Given the description of an element on the screen output the (x, y) to click on. 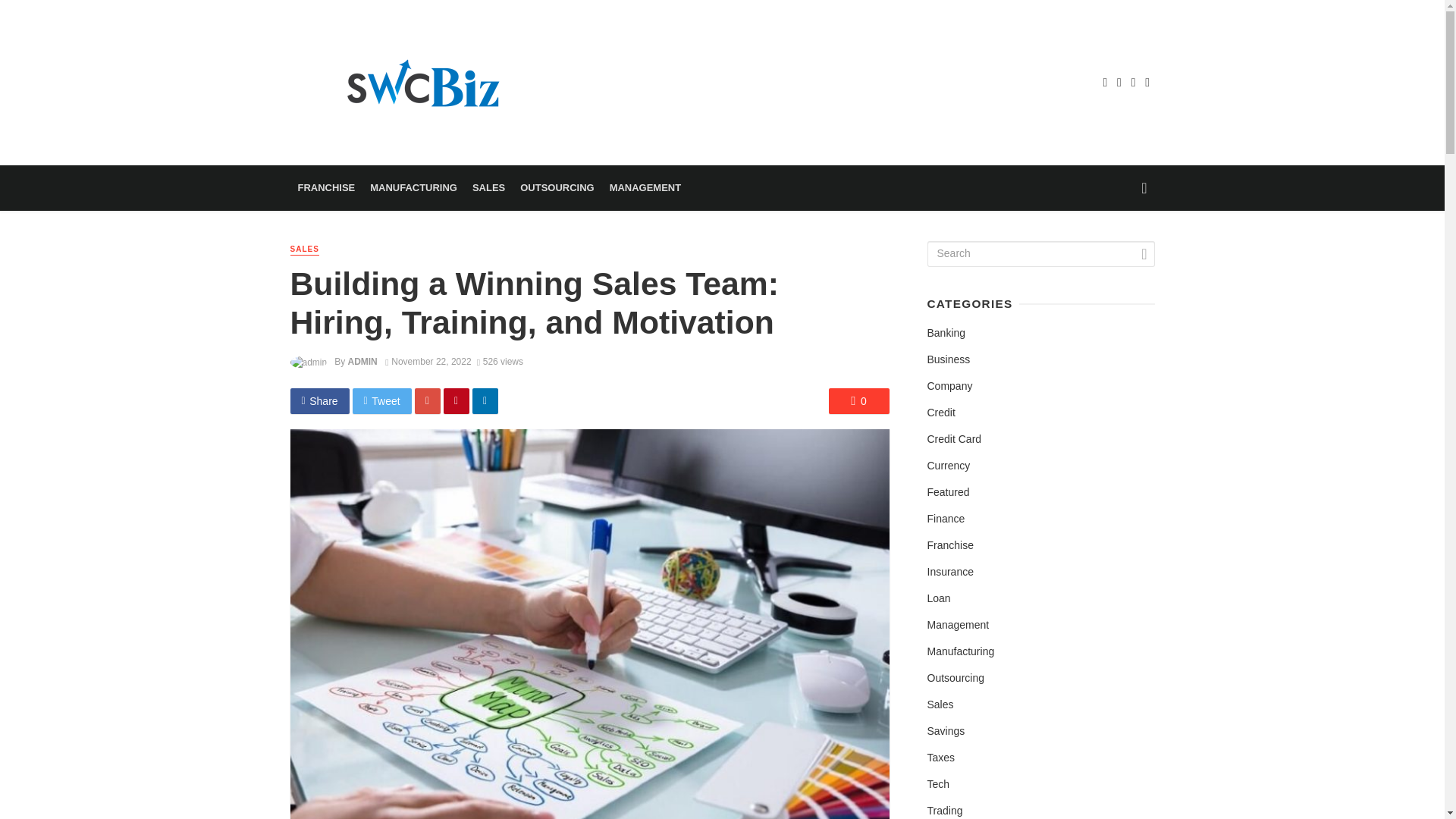
Share on Facebook (319, 401)
0 Comments (858, 401)
MANUFACTURING (413, 187)
OUTSOURCING (556, 187)
Share on Pinterest (456, 401)
ADMIN (362, 361)
FRANCHISE (325, 187)
0 (858, 401)
November 22, 2022 at 12:43 pm (427, 361)
Share on Linkedin (484, 401)
